Given the description of an element on the screen output the (x, y) to click on. 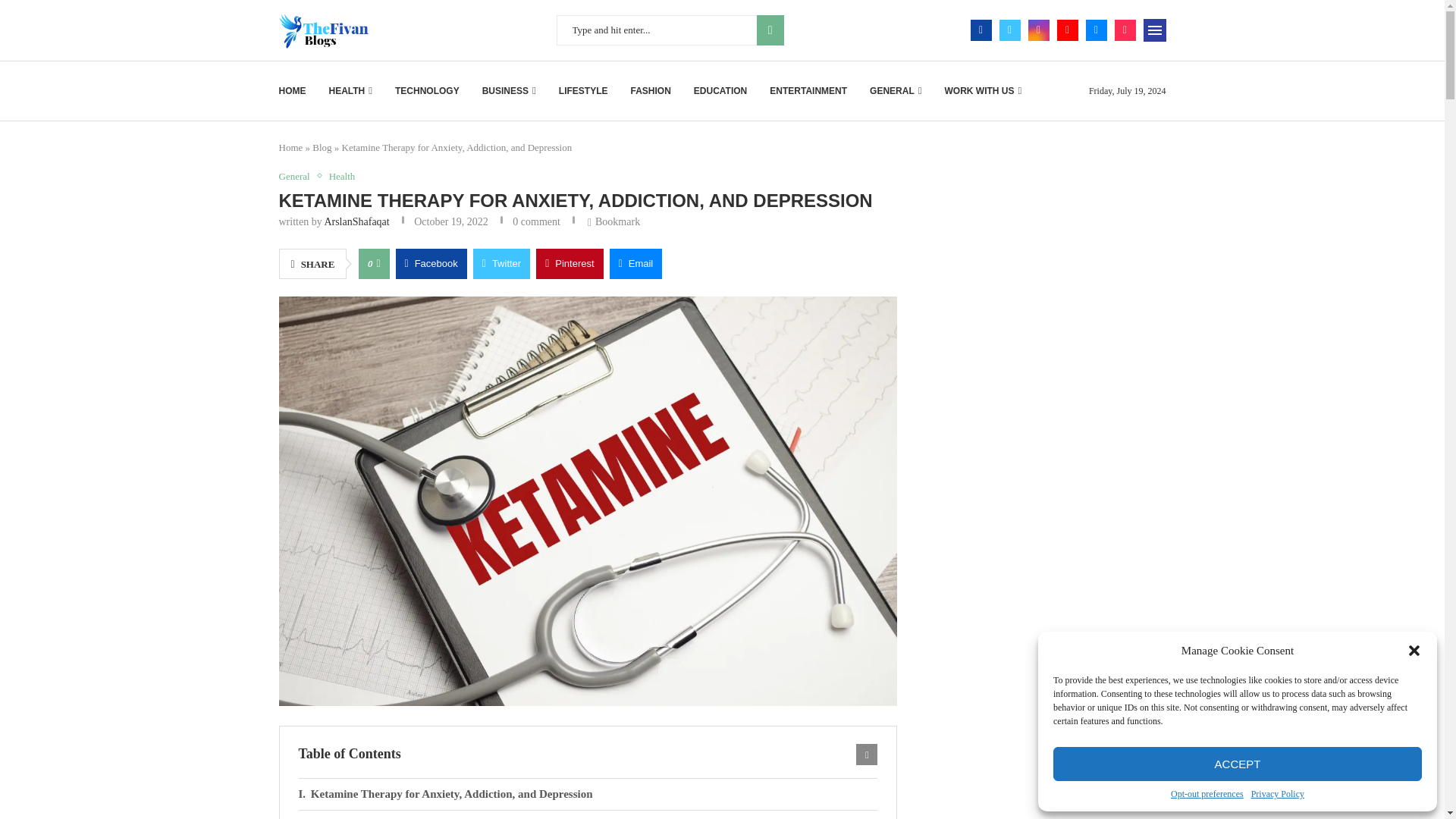
SEARCH (770, 30)
Ketamine Therapy for Anxiety, Addiction, and Depression (587, 794)
How It Works (587, 814)
Opt-out preferences (1206, 794)
ACCEPT (1237, 763)
Privacy Policy (1277, 794)
